Given the description of an element on the screen output the (x, y) to click on. 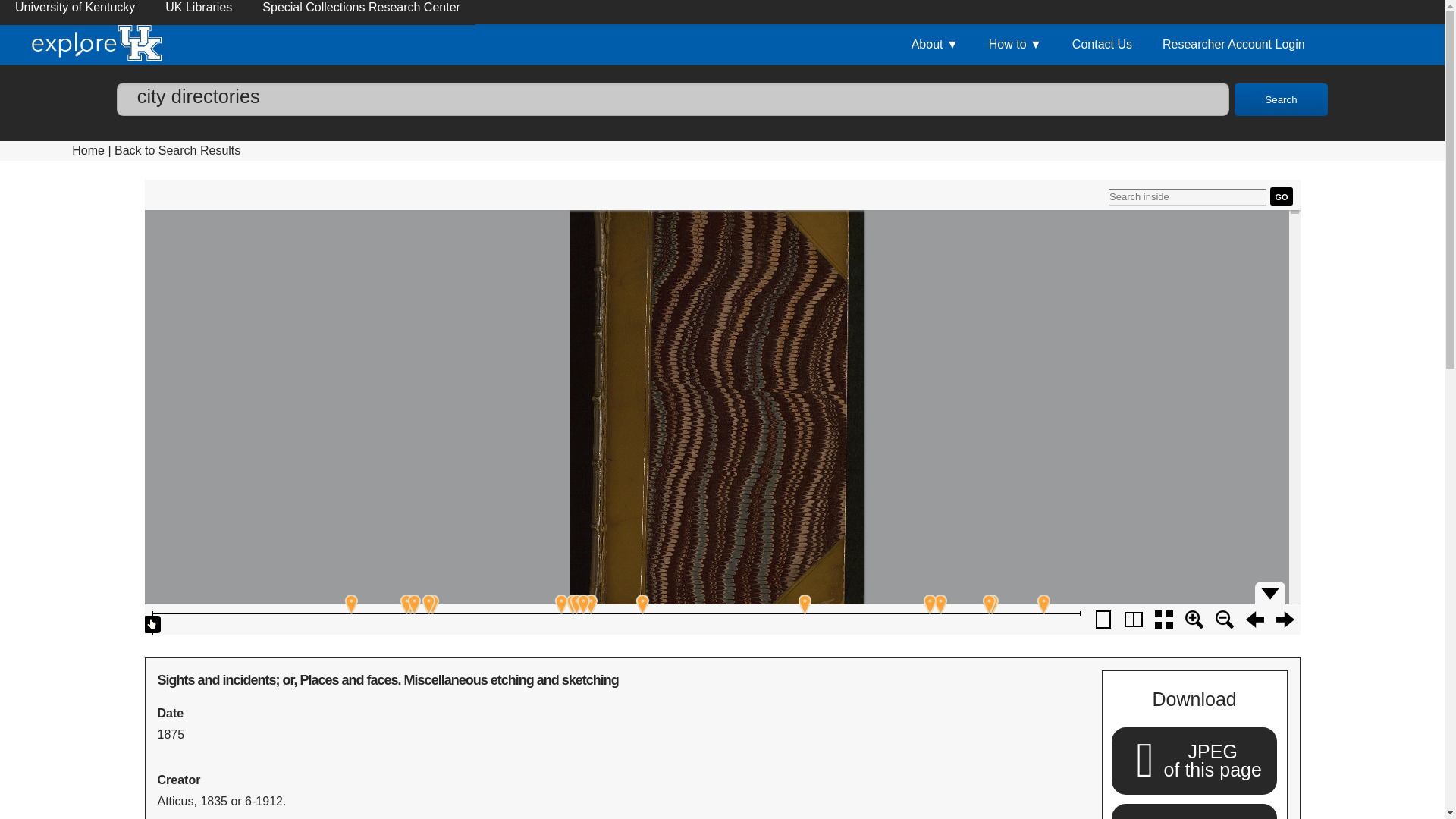
Special Collections Research Center (1194, 816)
About (361, 12)
Contact Us (935, 44)
city directories (1102, 44)
Home (672, 99)
UK Libraries (87, 150)
Researcher Account Login (198, 12)
University of Kentucky (1233, 44)
Back to Search Results (74, 12)
Search (1194, 760)
How to (177, 150)
